Given the description of an element on the screen output the (x, y) to click on. 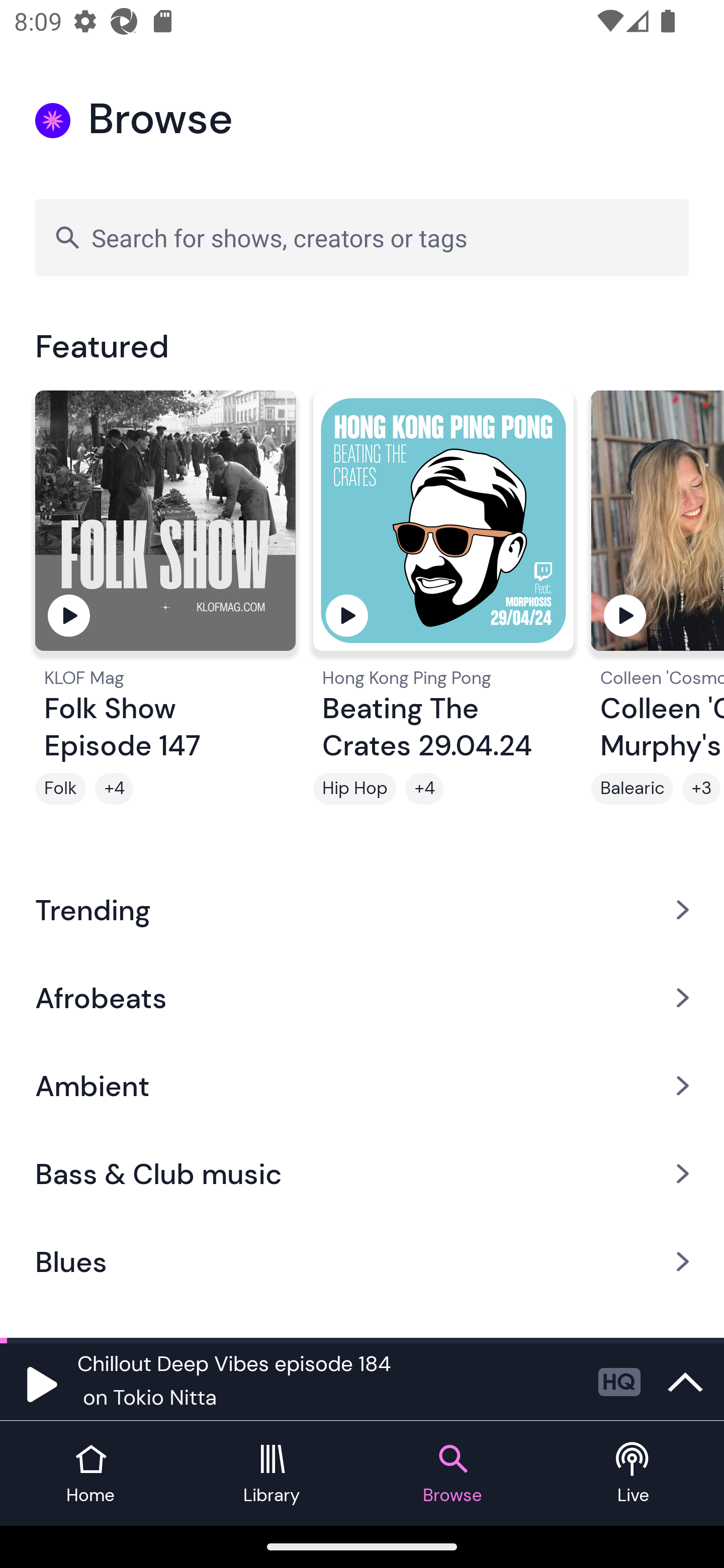
Search for shows, creators or tags (361, 237)
Folk (60, 788)
Hip Hop (354, 788)
Balearic (632, 788)
Trending (361, 909)
Afrobeats (361, 997)
Ambient (361, 1085)
Bass & Club music (361, 1174)
Blues (361, 1262)
Home tab Home (90, 1473)
Library tab Library (271, 1473)
Browse tab Browse (452, 1473)
Live tab Live (633, 1473)
